Given the description of an element on the screen output the (x, y) to click on. 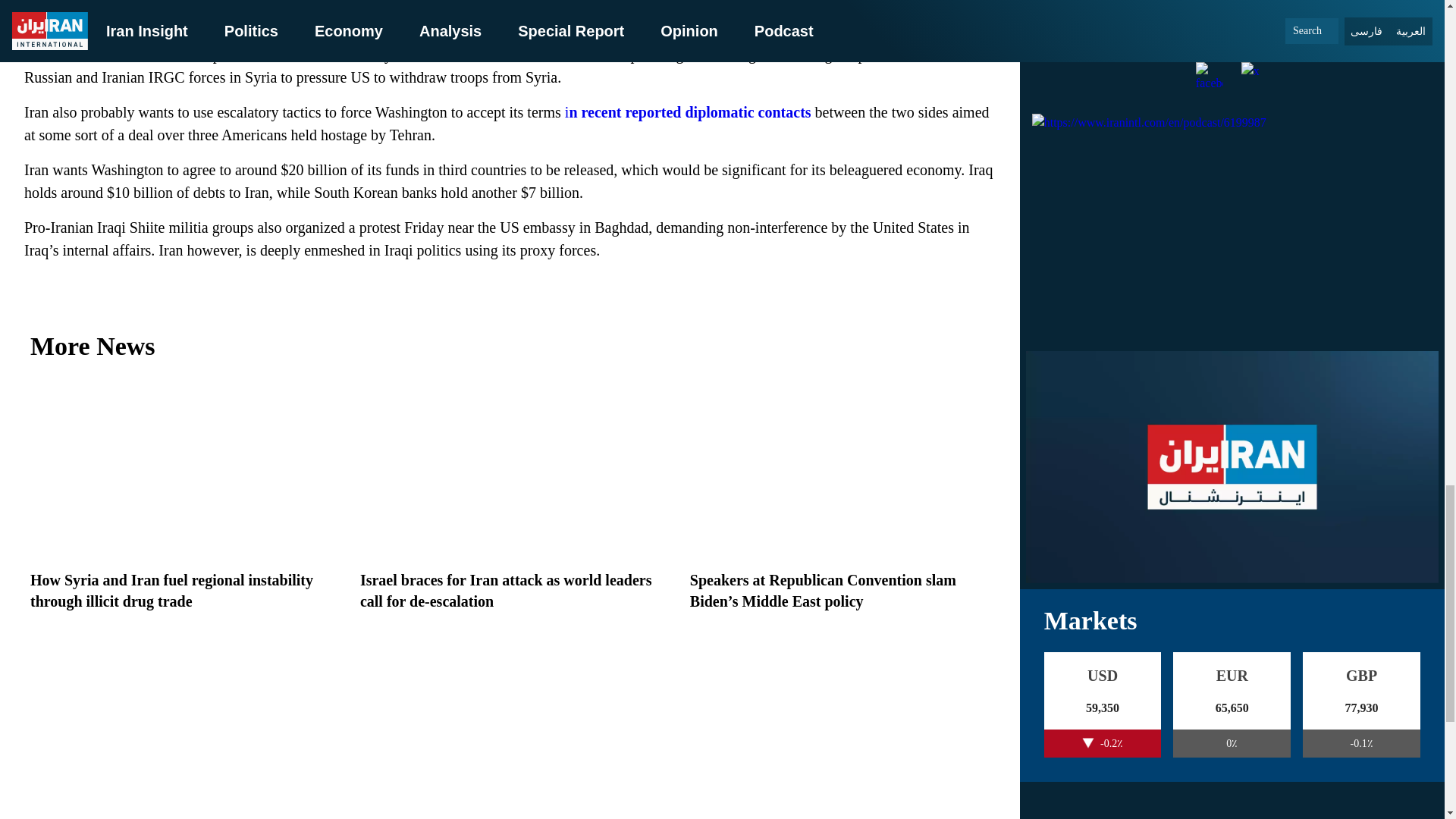
More News (510, 346)
in recent reported diplomatic contacts (685, 112)
